Given the description of an element on the screen output the (x, y) to click on. 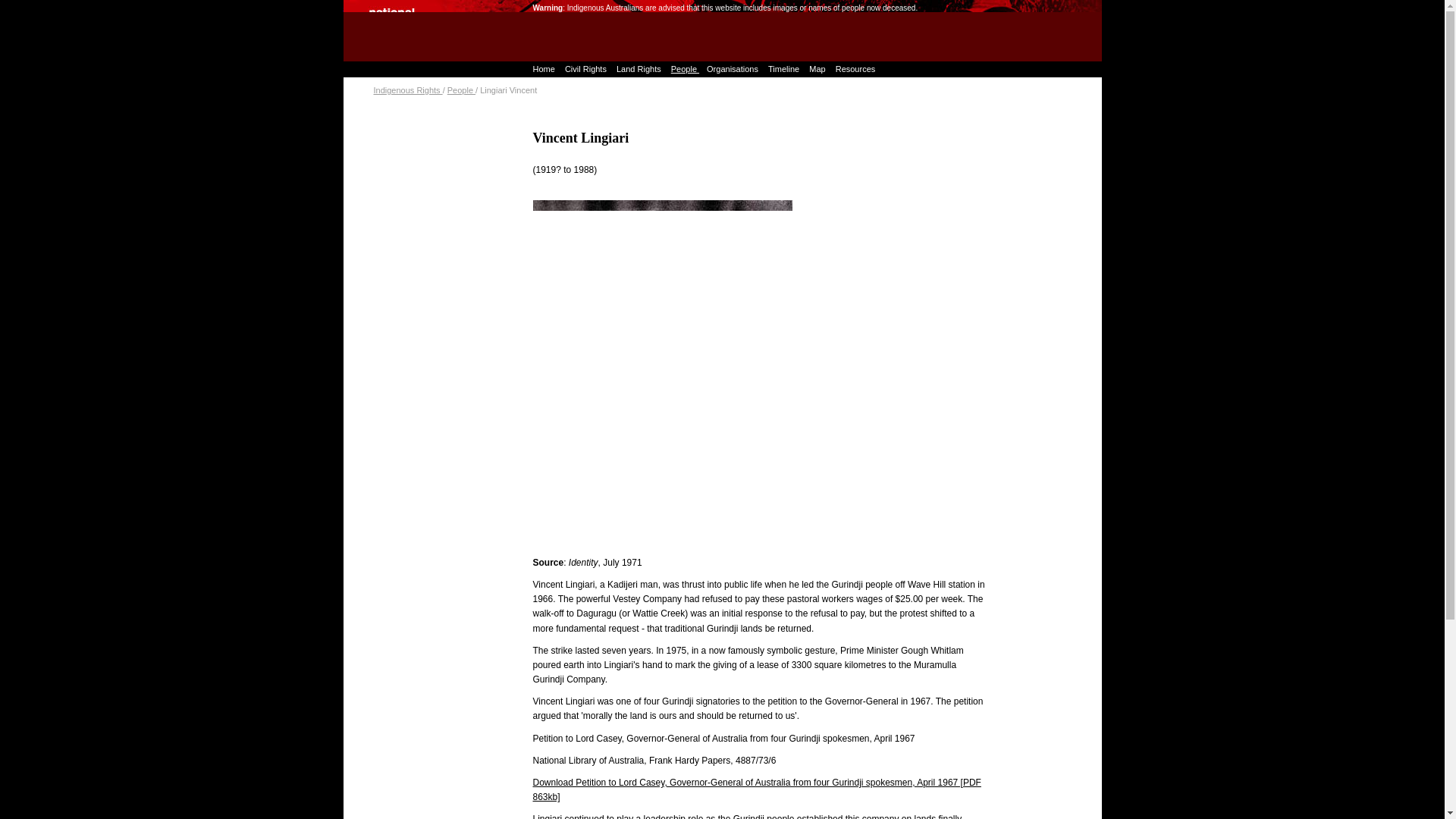
Map (814, 68)
Jump to content (374, 7)
People (461, 90)
Resources (852, 68)
Land Rights (635, 68)
People (680, 68)
Civil Rights (582, 68)
Indigenous Rights (407, 90)
Timeline (781, 68)
Organisations (729, 68)
Home (540, 68)
